Given the description of an element on the screen output the (x, y) to click on. 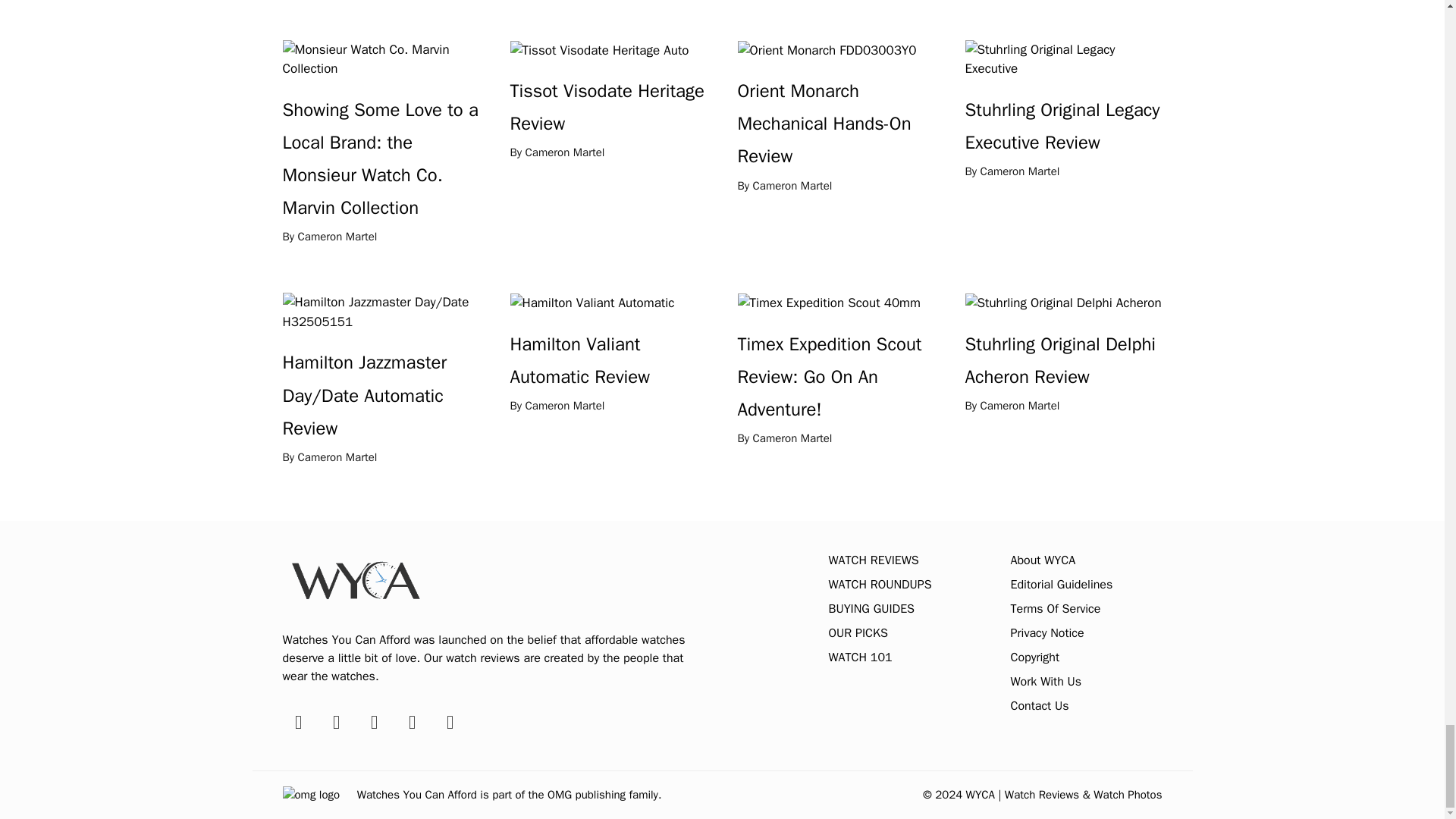
Twitter (411, 722)
Pinterest (449, 722)
Facebook (297, 722)
YouTube (373, 722)
Instagram (335, 722)
